Given the description of an element on the screen output the (x, y) to click on. 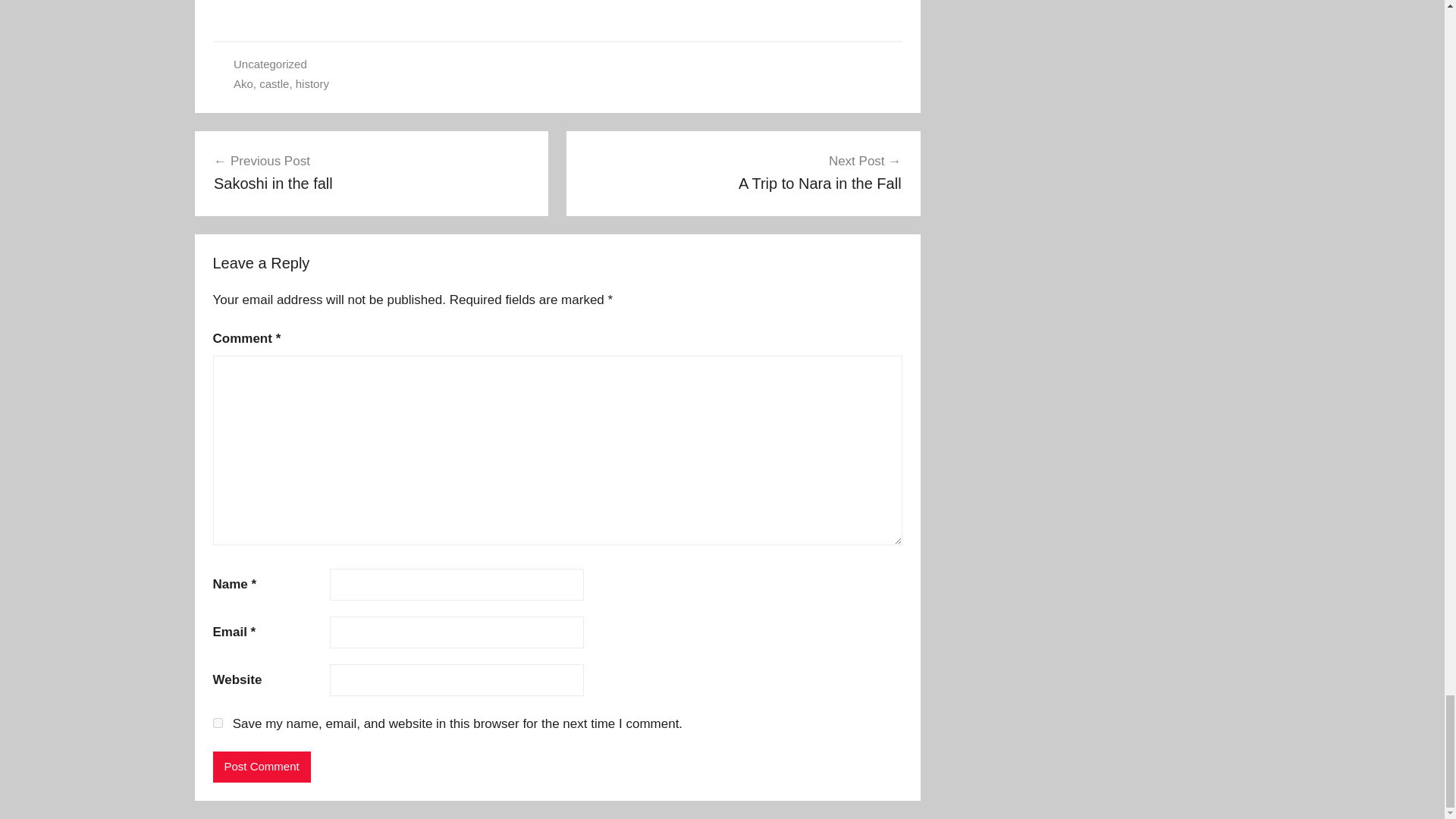
Post Comment (261, 766)
yes (217, 723)
castle (273, 83)
Post Comment (371, 171)
history (261, 766)
Ako (743, 171)
Uncategorized (312, 83)
